Given the description of an element on the screen output the (x, y) to click on. 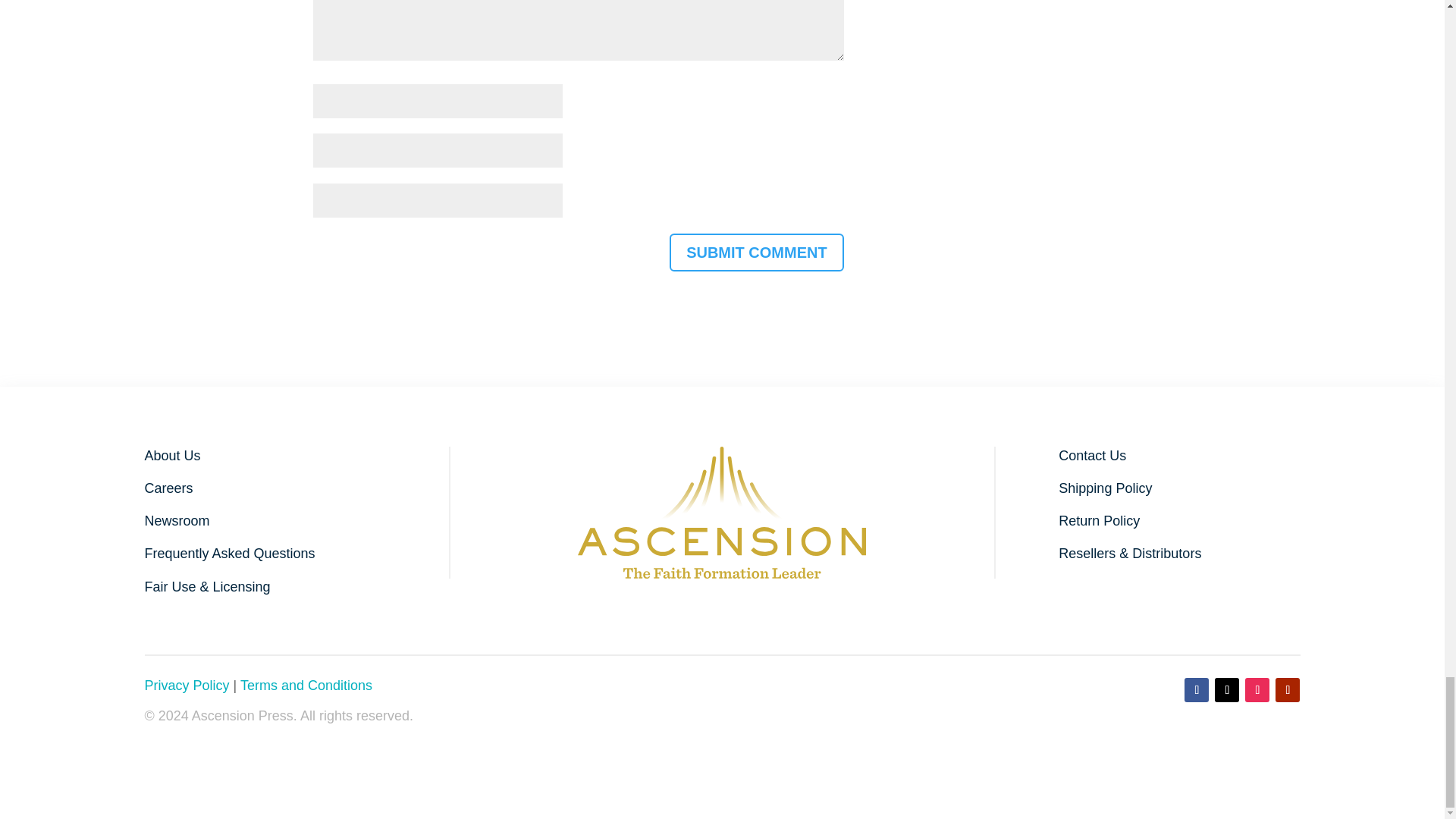
SUBMIT COMMENT (756, 252)
Follow on Youtube (1287, 689)
Follow on X (1226, 689)
Follow on Instagram (1256, 689)
Follow on Facebook (1196, 689)
logo-facebook (722, 512)
